Given the description of an element on the screen output the (x, y) to click on. 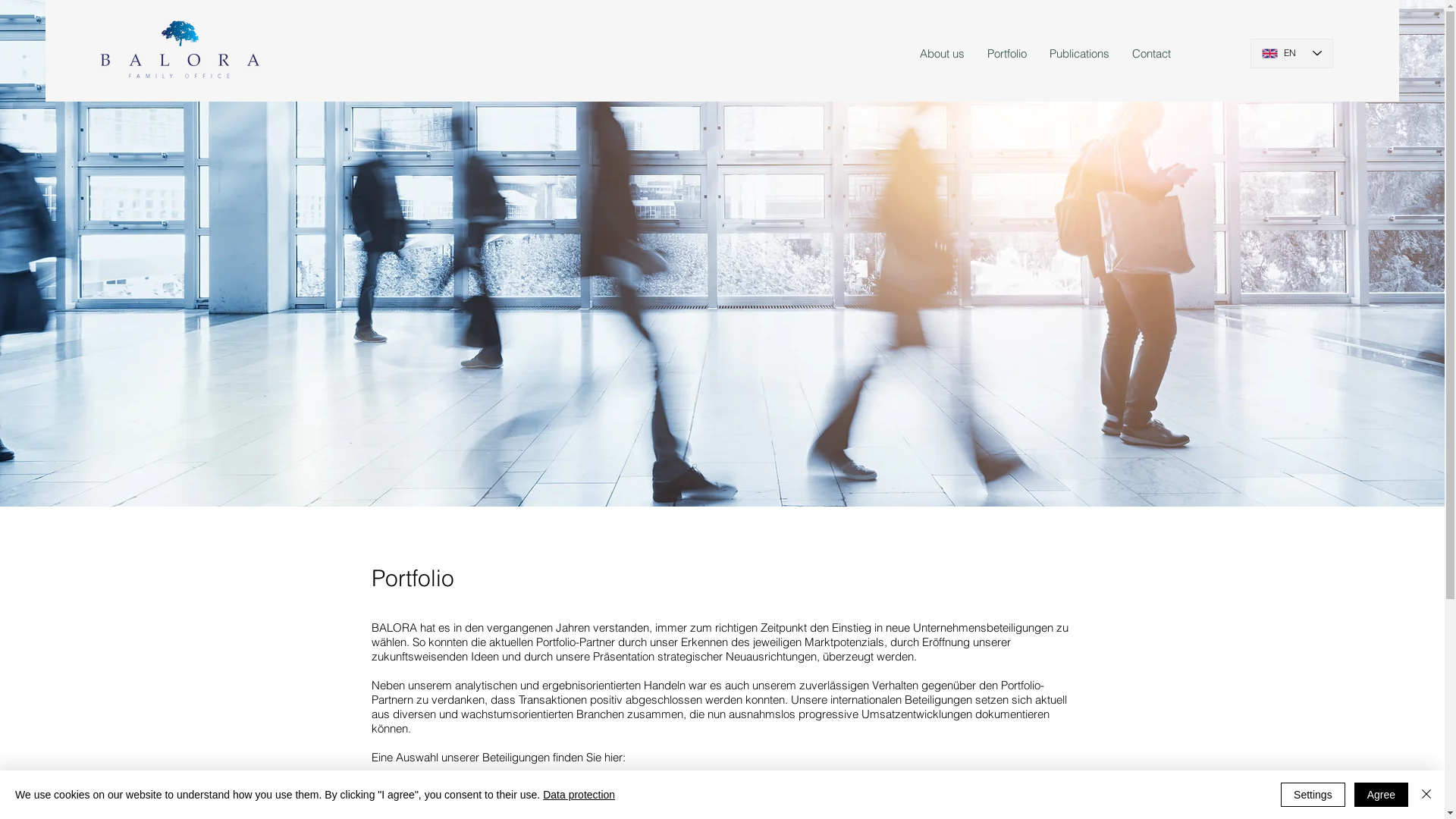
About us Element type: text (941, 53)
Publications Element type: text (1079, 53)
Data protection Element type: text (578, 794)
Agree Element type: text (1381, 794)
Portfolio Element type: text (1006, 53)
Contact Element type: text (1151, 53)
Settings Element type: text (1312, 794)
